Given the description of an element on the screen output the (x, y) to click on. 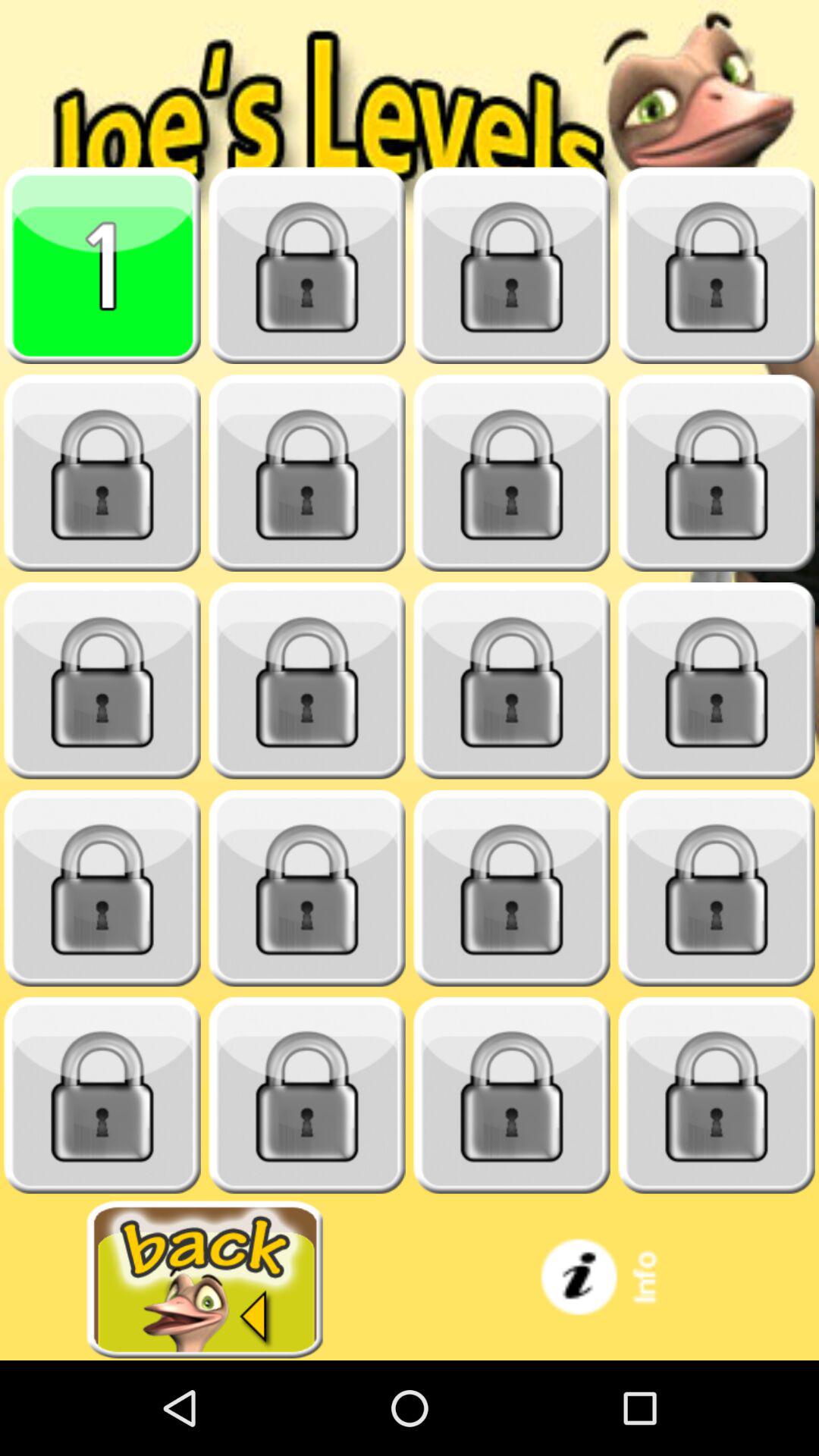
close button (511, 473)
